Given the description of an element on the screen output the (x, y) to click on. 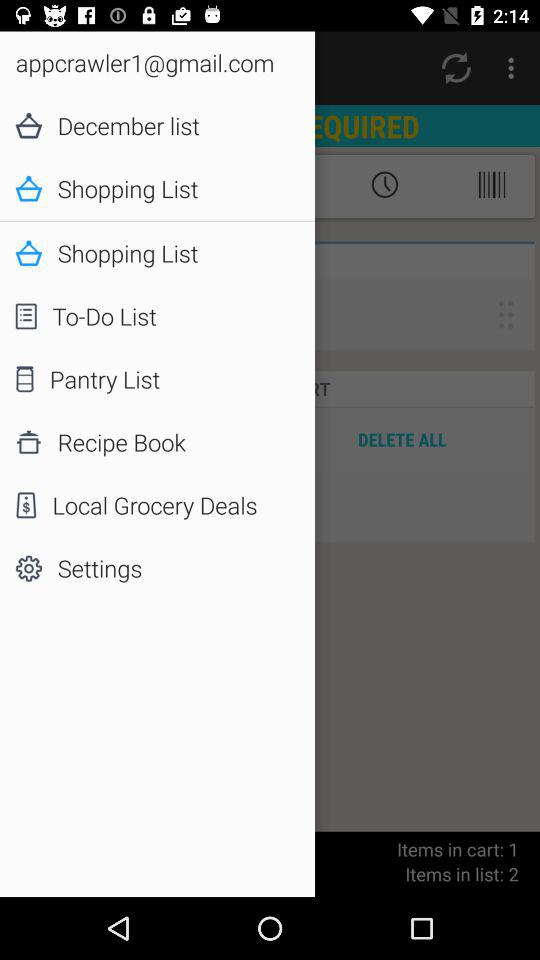
click on next to android menu icon (456, 68)
select the timer symbol which is beside to  shopping list (384, 185)
